Given the description of an element on the screen output the (x, y) to click on. 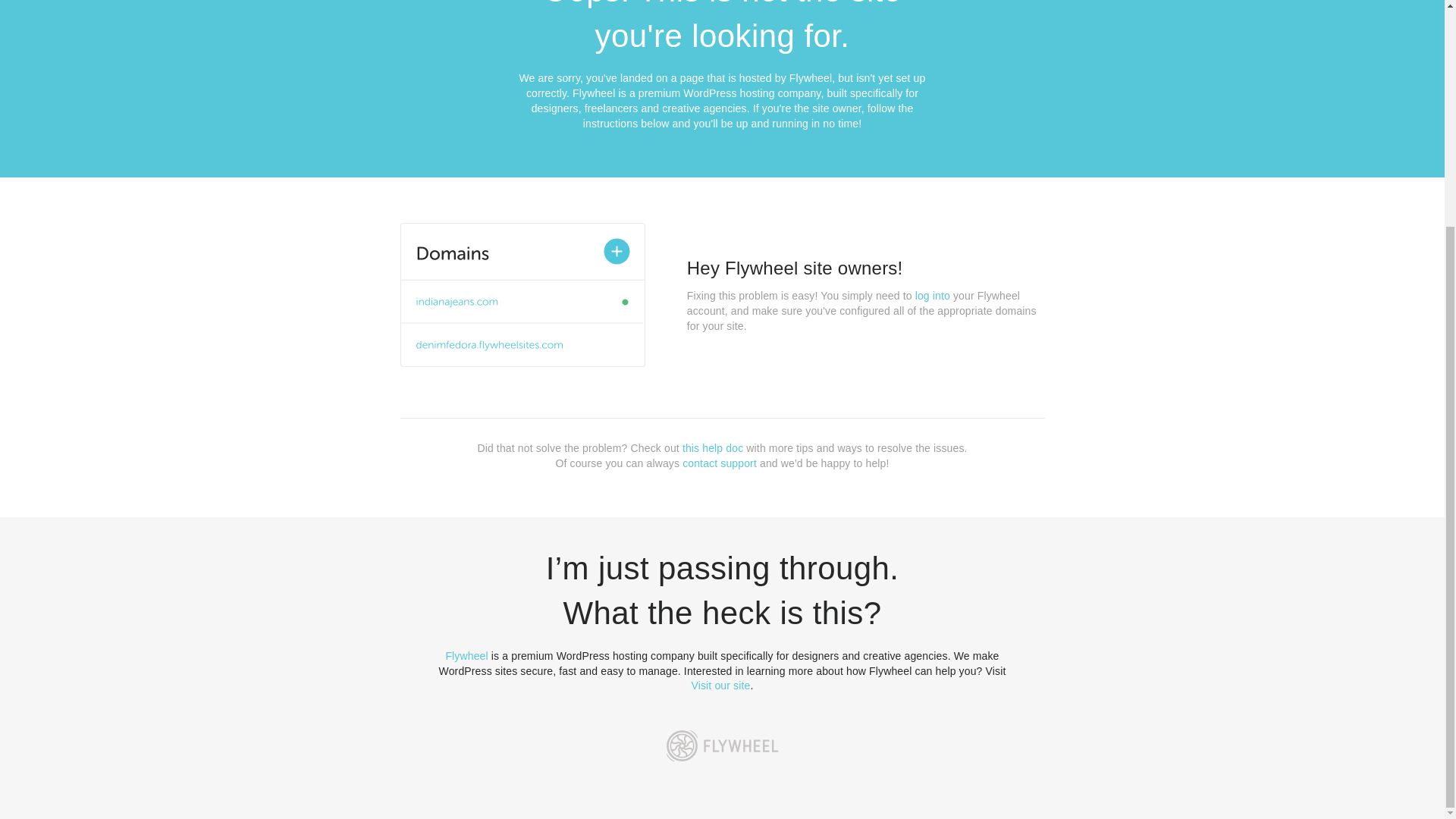
Flywheel (466, 655)
this help doc (712, 448)
log into (932, 295)
Visit our site (721, 685)
contact support (719, 463)
